Given the description of an element on the screen output the (x, y) to click on. 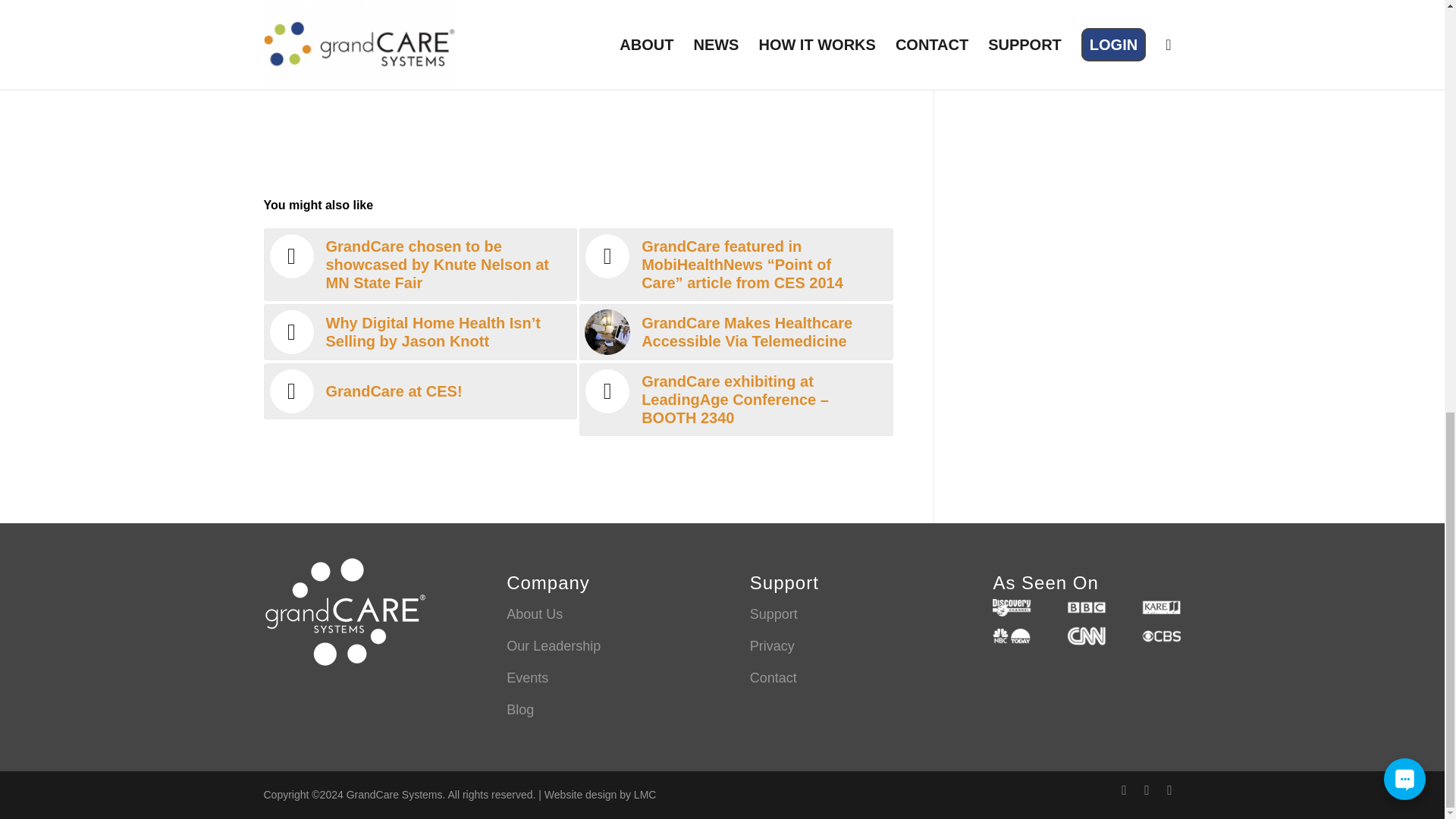
GrandCare at CES! (420, 391)
GrandCare at CES! (420, 391)
GrandCare Makes Healthcare Accessible Via Telemedicine (736, 331)
GC-esther-dr (607, 331)
GrandCare Makes Healthcare Accessible Via Telemedicine (736, 331)
